Given the description of an element on the screen output the (x, y) to click on. 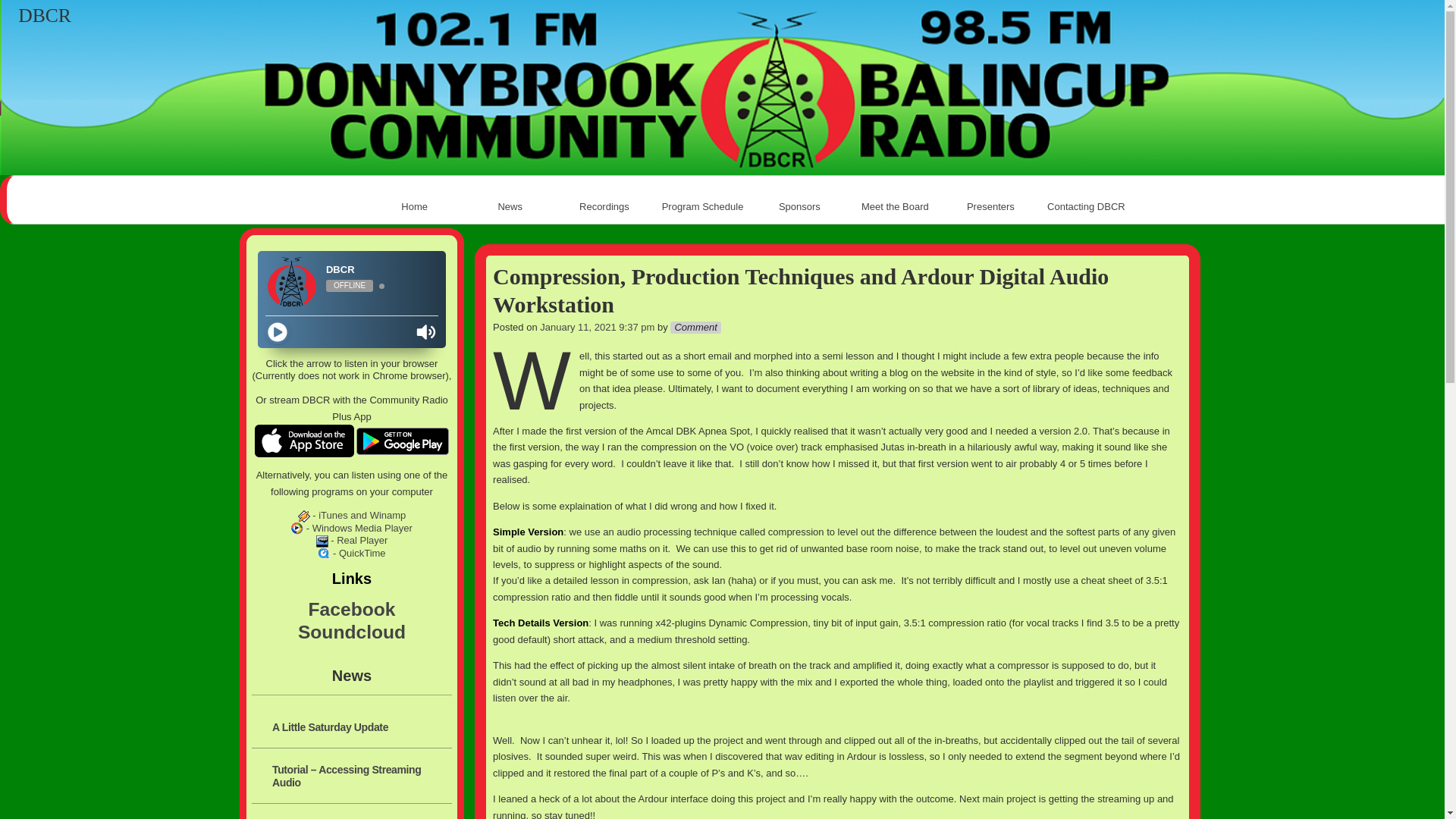
Recordings  Element type: text (605, 206)
Home Element type: text (414, 206)
News Element type: text (510, 206)
Presenters Element type: text (990, 206)
DBCR Element type: text (44, 15)
Sponsors Element type: text (798, 206)
Play Element type: hover (277, 332)
Comment Element type: text (695, 326)
QuickTime Element type: hover (323, 553)
Facebook Element type: text (351, 609)
- iTunes and Winamp Element type: text (352, 514)
- QuickTime Element type: text (351, 552)
Soundcloud Element type: text (351, 631)
Winamp, iTunes Element type: hover (304, 516)
Google Play Element type: hover (402, 441)
Real Player Element type: hover (322, 541)
Windows Media Player Element type: hover (297, 528)
January 11, 2021 9:37 pm Element type: text (596, 326)
- Real Player Element type: text (352, 540)
Contacting DBCR Element type: text (1085, 206)
Meet the Board Element type: text (894, 206)
A Little Saturday Update Element type: text (358, 724)
App Store Element type: hover (304, 440)
Program Schedule Element type: text (702, 206)
- Windows Media Player Element type: text (351, 527)
